Given the description of an element on the screen output the (x, y) to click on. 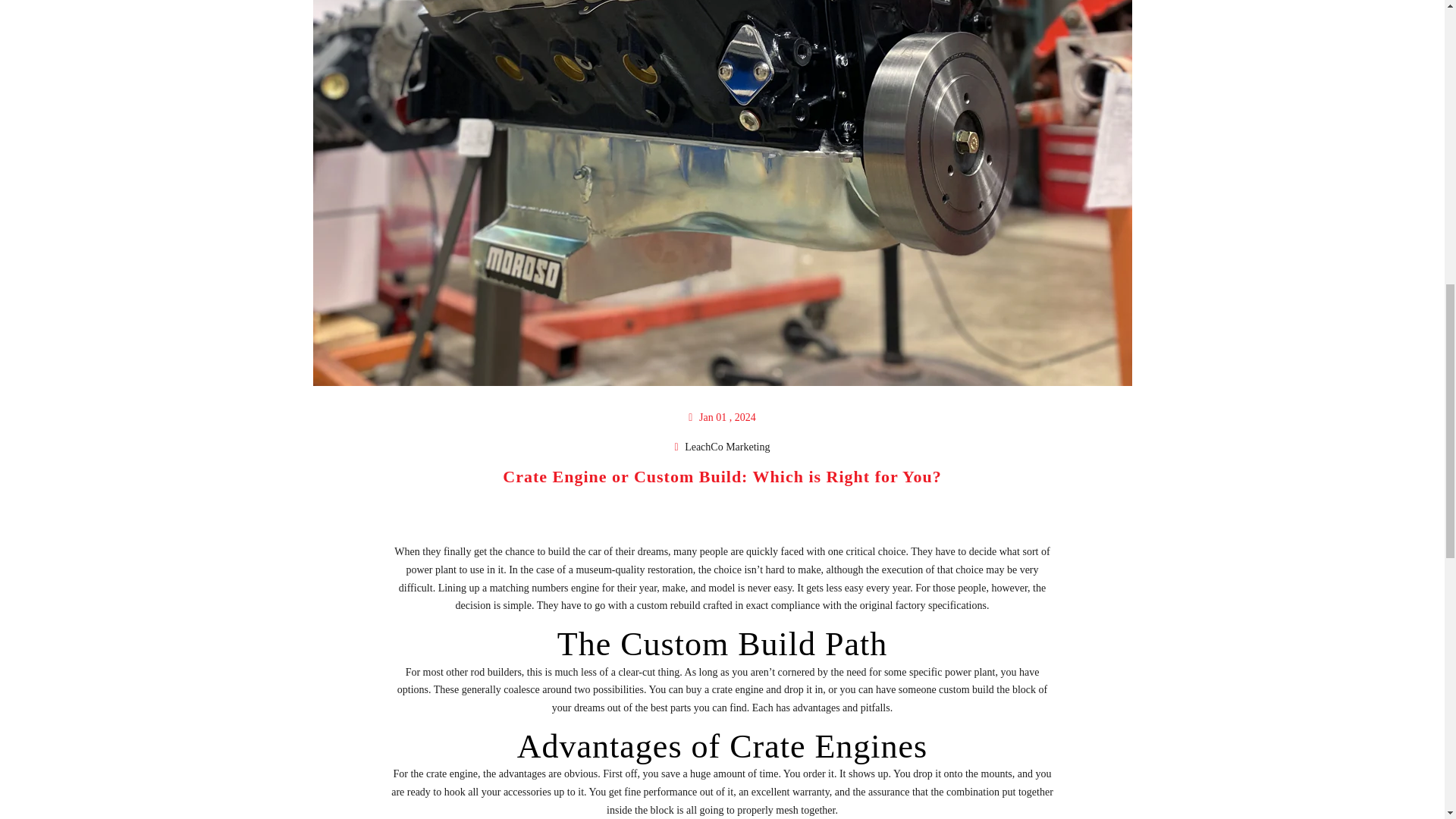
crate engine (451, 773)
crate engine (451, 773)
Crate Engine or Custom Build: Which is Right for You? (721, 476)
